Given the description of an element on the screen output the (x, y) to click on. 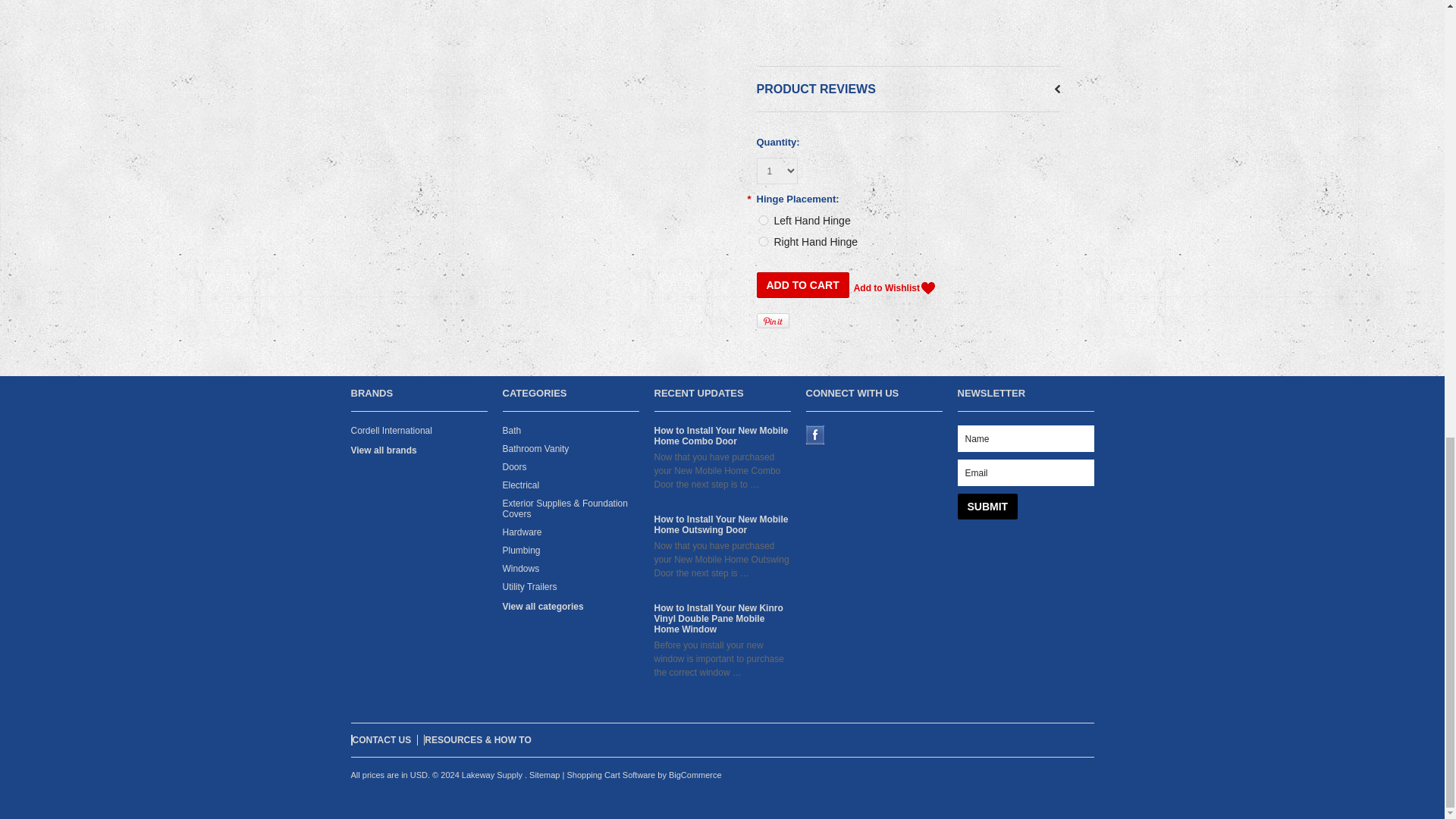
Name (1024, 438)
Add To Cart (802, 284)
Add to Wishlist (893, 287)
86 (763, 220)
Email (1024, 472)
Facebook (814, 434)
Submit (986, 506)
US Dollars (419, 774)
87 (763, 241)
Add To Cart (802, 284)
Add to Wishlist (893, 287)
